Given the description of an element on the screen output the (x, y) to click on. 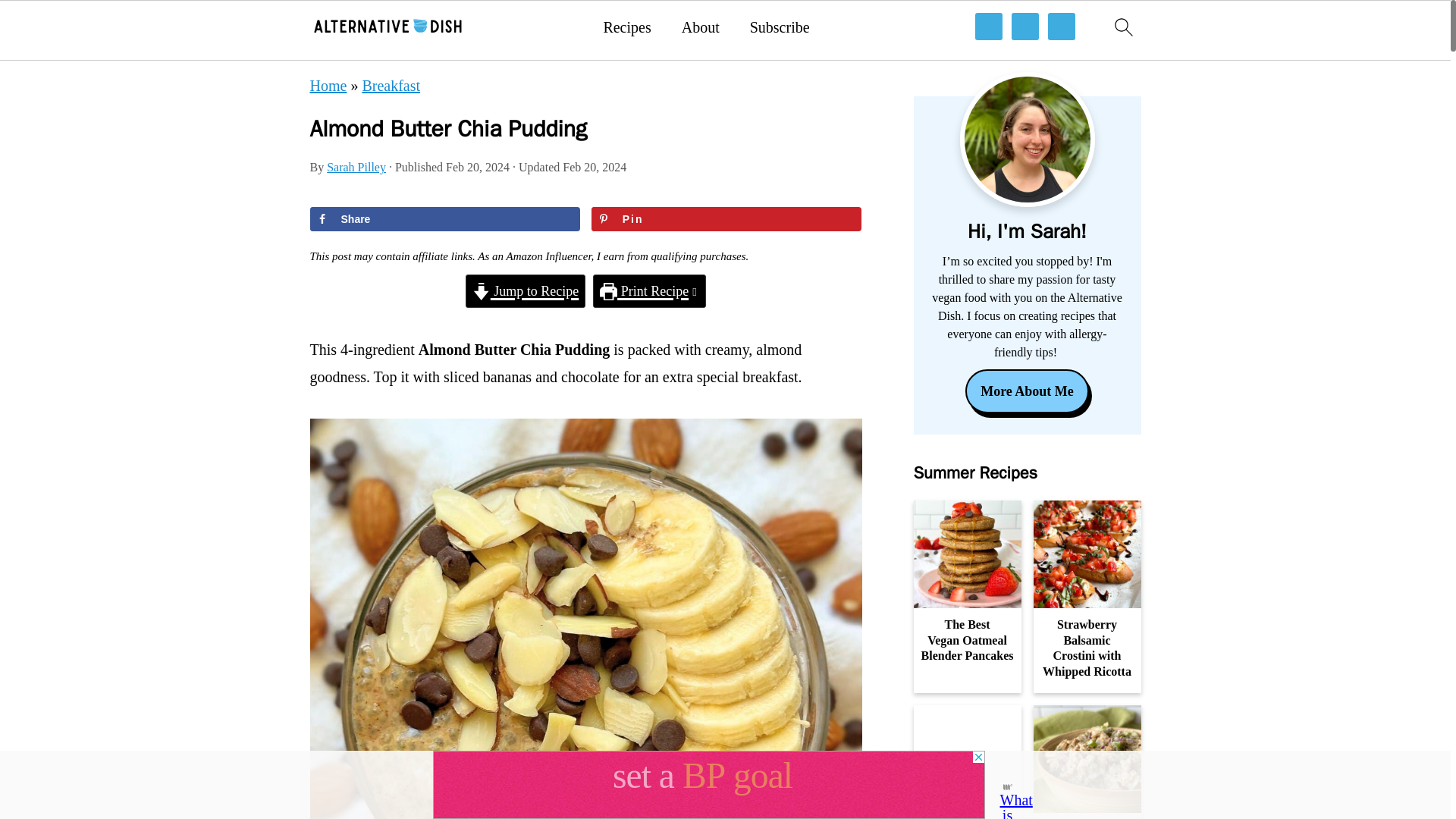
Share on Facebook (443, 218)
search icon (1122, 26)
About (700, 27)
Share (443, 218)
Breakfast (390, 85)
Jump to Recipe (525, 290)
Pin (726, 218)
Subscribe (779, 27)
Sarah Pilley (355, 166)
3rd party ad content (708, 785)
Save to Pinterest (726, 218)
Home (327, 85)
Recipes (626, 27)
Print Recipe (649, 290)
